Given the description of an element on the screen output the (x, y) to click on. 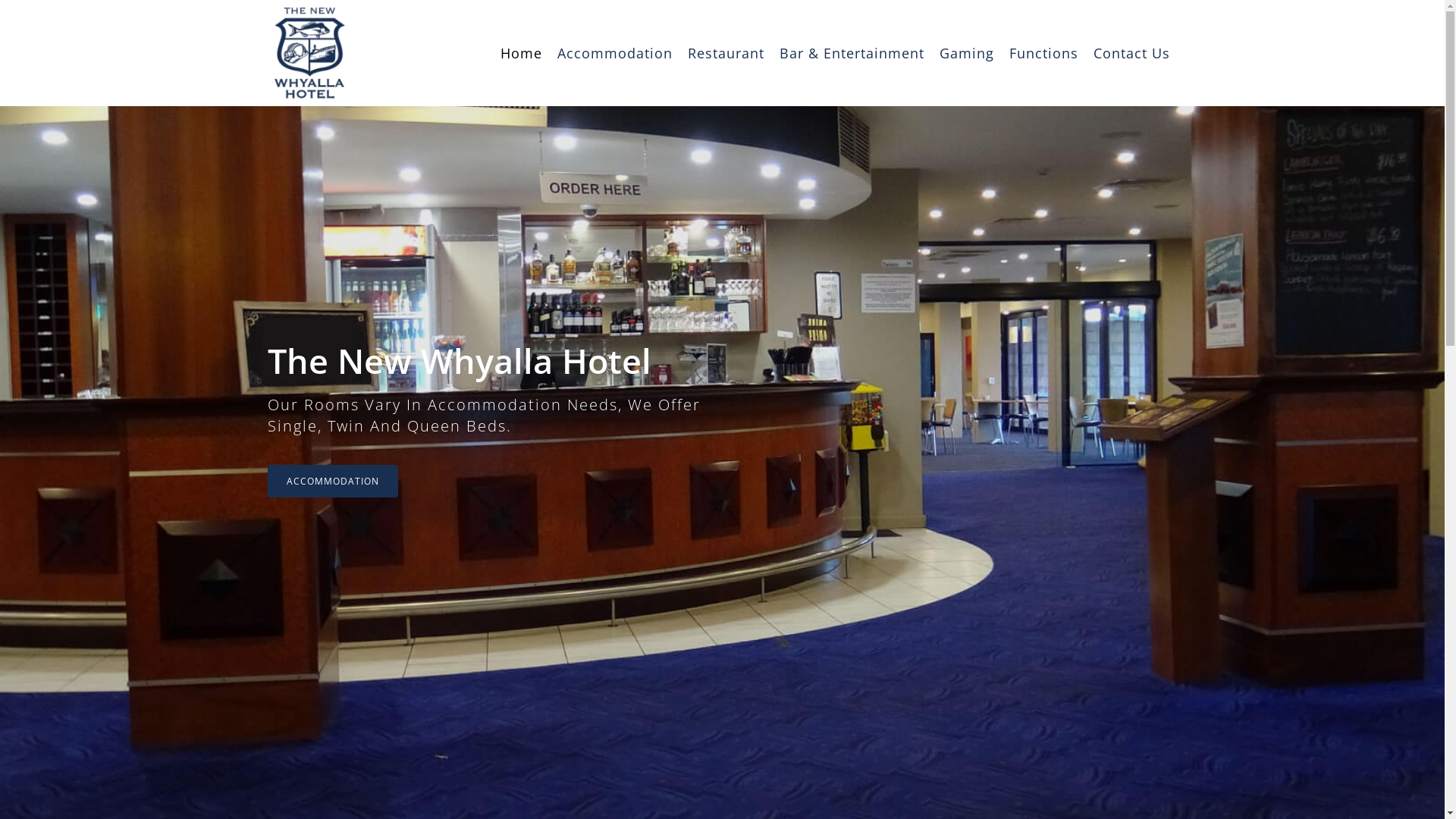
ACCOMMODATION Element type: text (331, 480)
Hotel Richmond Element type: text (806, 799)
(08) 8645 8955 Element type: text (745, 630)
Contact Us Element type: text (1131, 53)
Pier Hotel Element type: text (708, 799)
Restaurant Element type: text (725, 53)
Bar & Entertainment Element type: text (851, 53)
Home Element type: text (520, 53)
Functions Element type: text (1043, 53)
Accommodation Element type: text (614, 53)
Gaming Element type: text (966, 53)
